Given the description of an element on the screen output the (x, y) to click on. 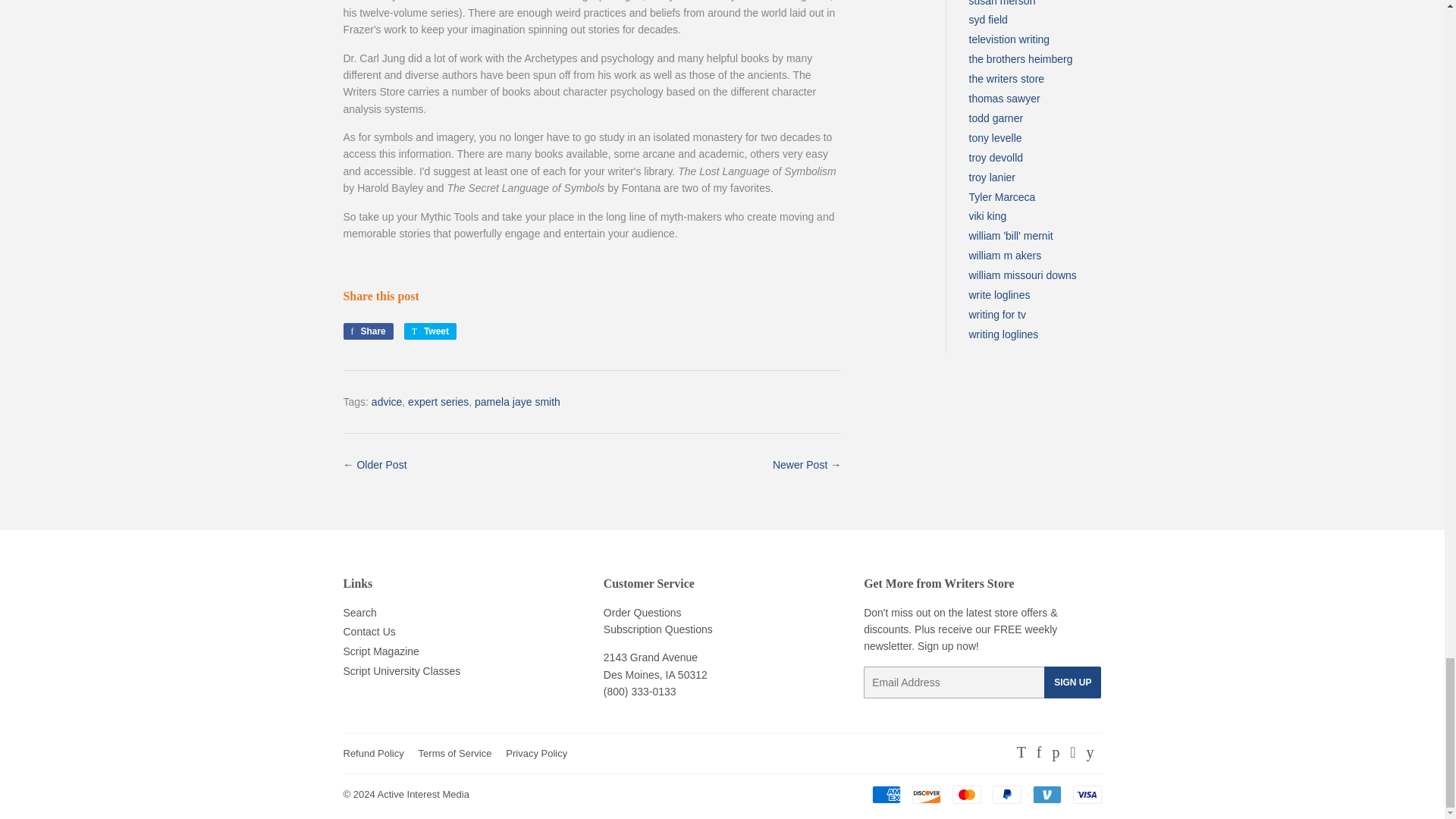
expert series (437, 401)
Mastercard (966, 794)
Visa (1085, 794)
Share on Facebook (367, 330)
American Express (886, 794)
pamela jaye smith (517, 401)
Tweet on Twitter (430, 330)
PayPal (1005, 794)
Discover (430, 330)
